Given the description of an element on the screen output the (x, y) to click on. 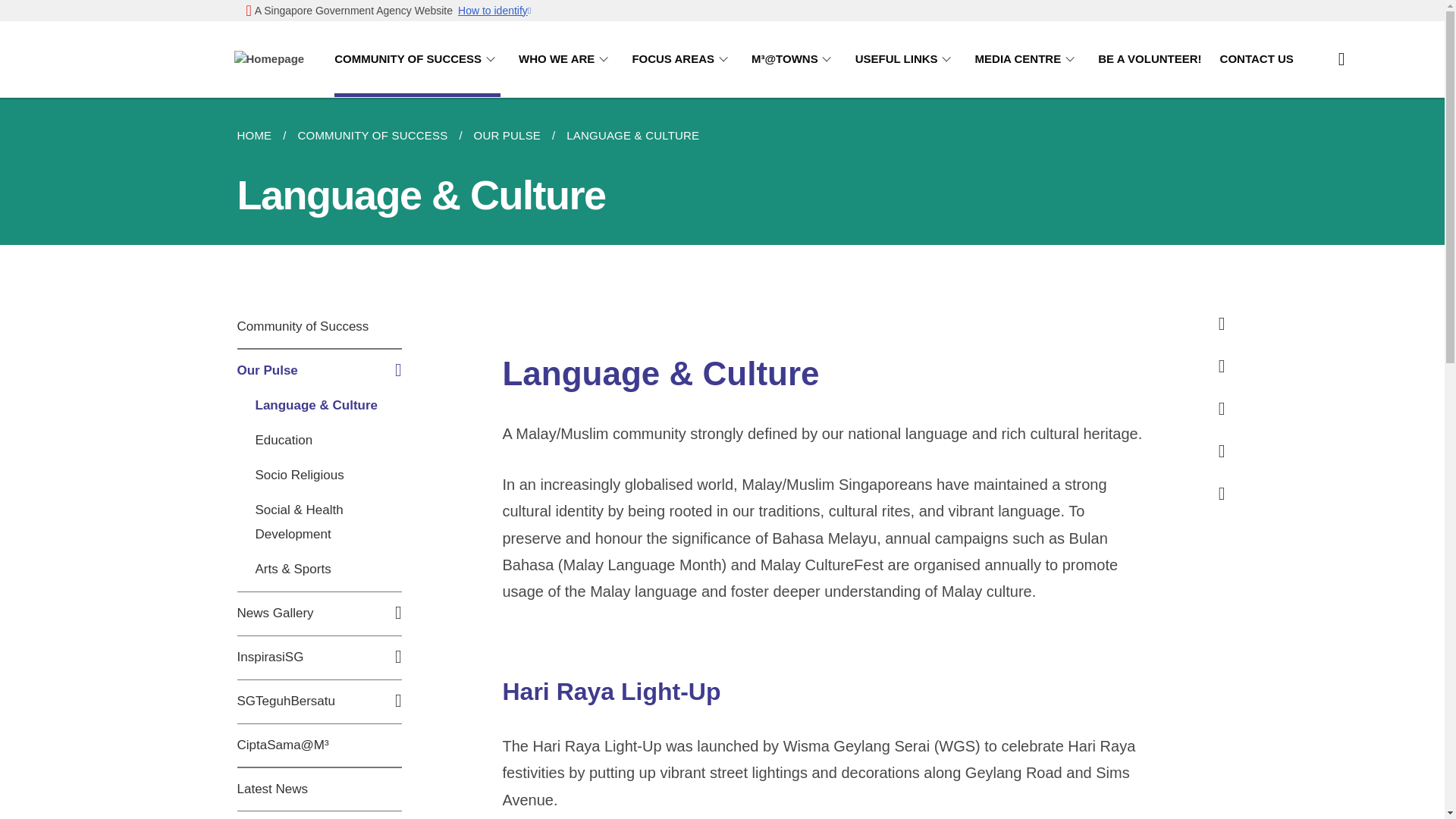
USEFUL LINKS (906, 59)
COMMUNITY OF SUCCESS (417, 59)
FOCUS AREAS (682, 59)
WHO WE ARE (565, 59)
